Given the description of an element on the screen output the (x, y) to click on. 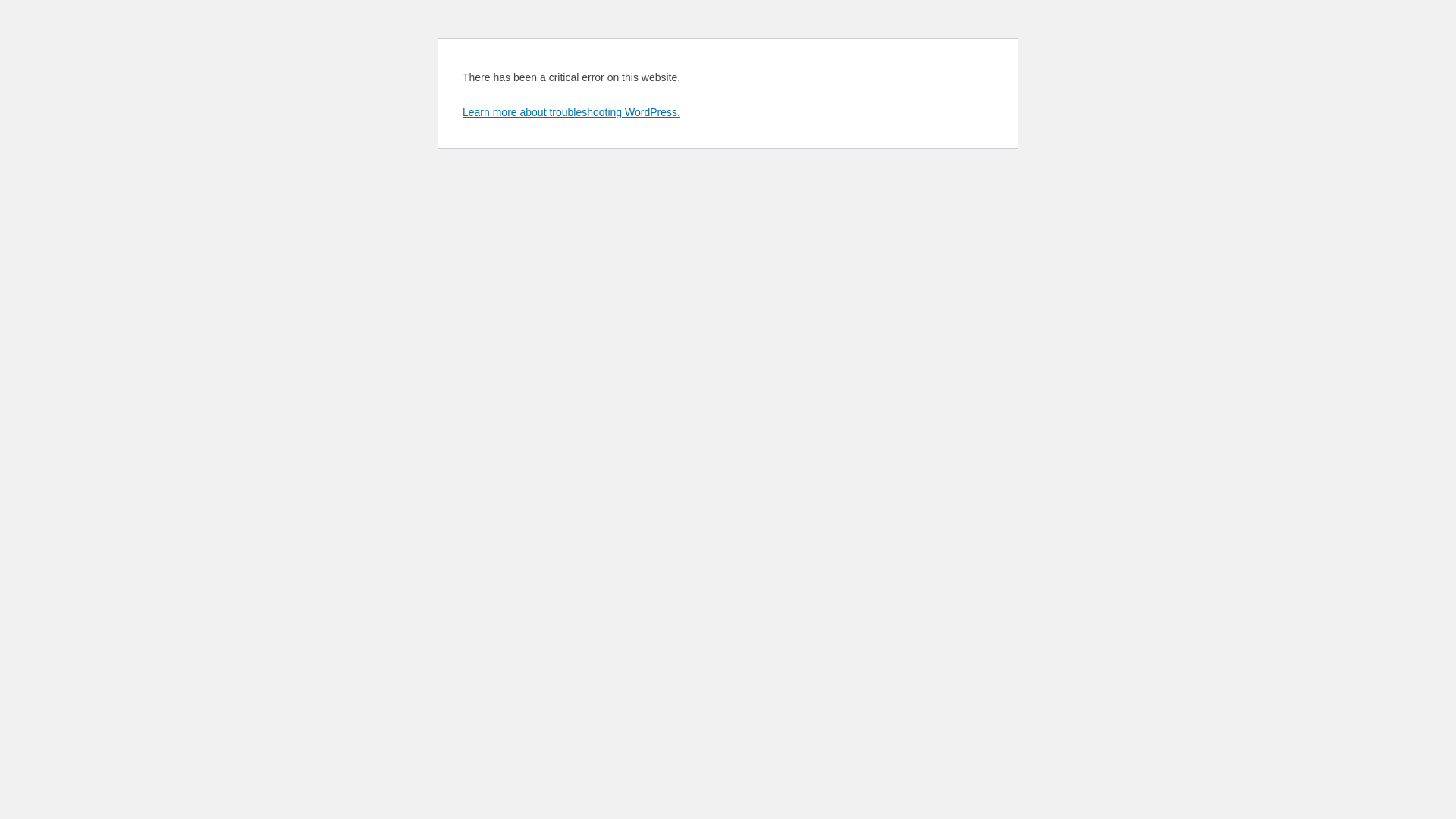
Learn more about troubleshooting WordPress. Element type: text (571, 112)
